Given the description of an element on the screen output the (x, y) to click on. 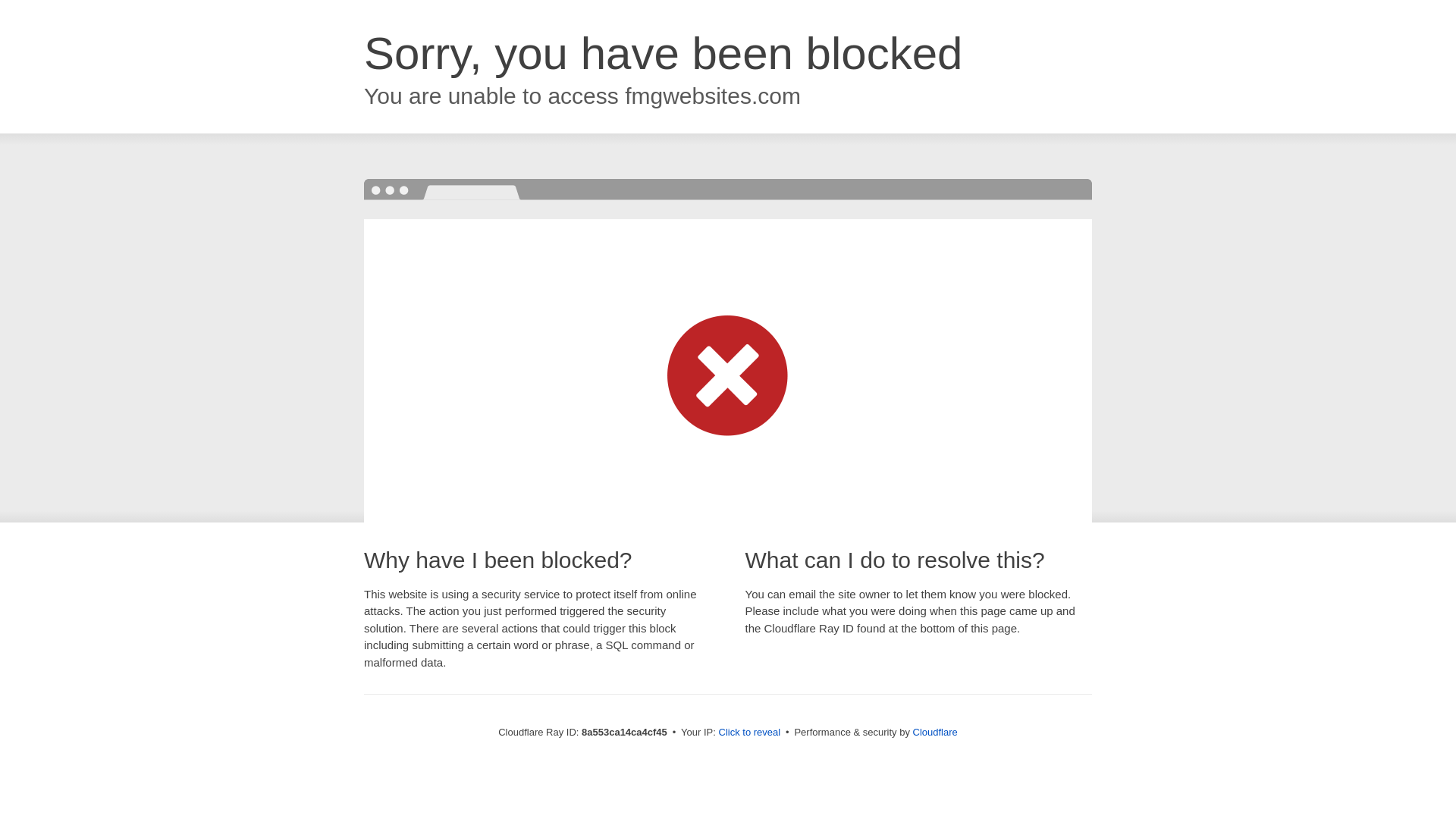
Cloudflare (935, 731)
Click to reveal (749, 732)
